Given the description of an element on the screen output the (x, y) to click on. 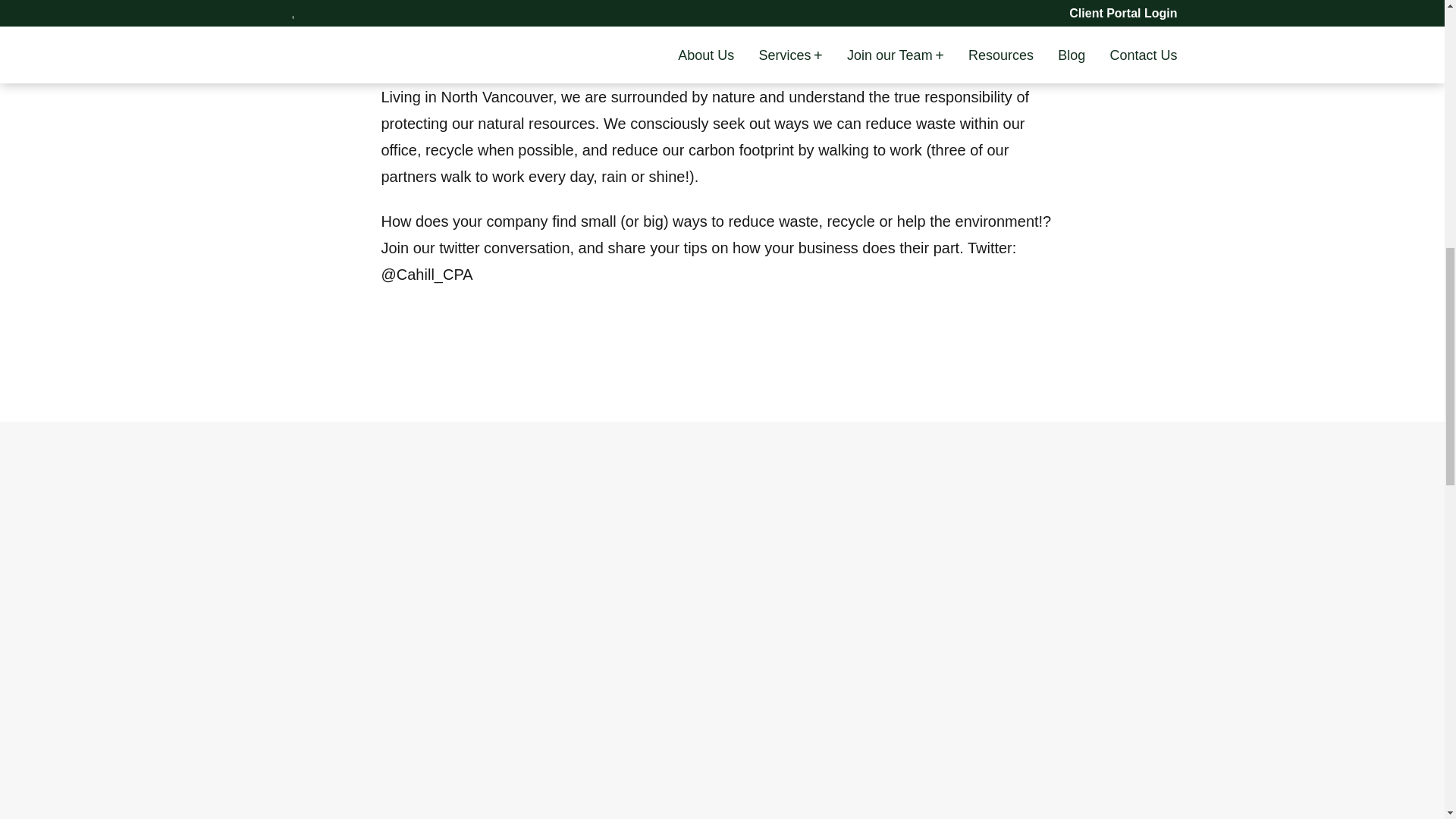
link here (711, 38)
